Given the description of an element on the screen output the (x, y) to click on. 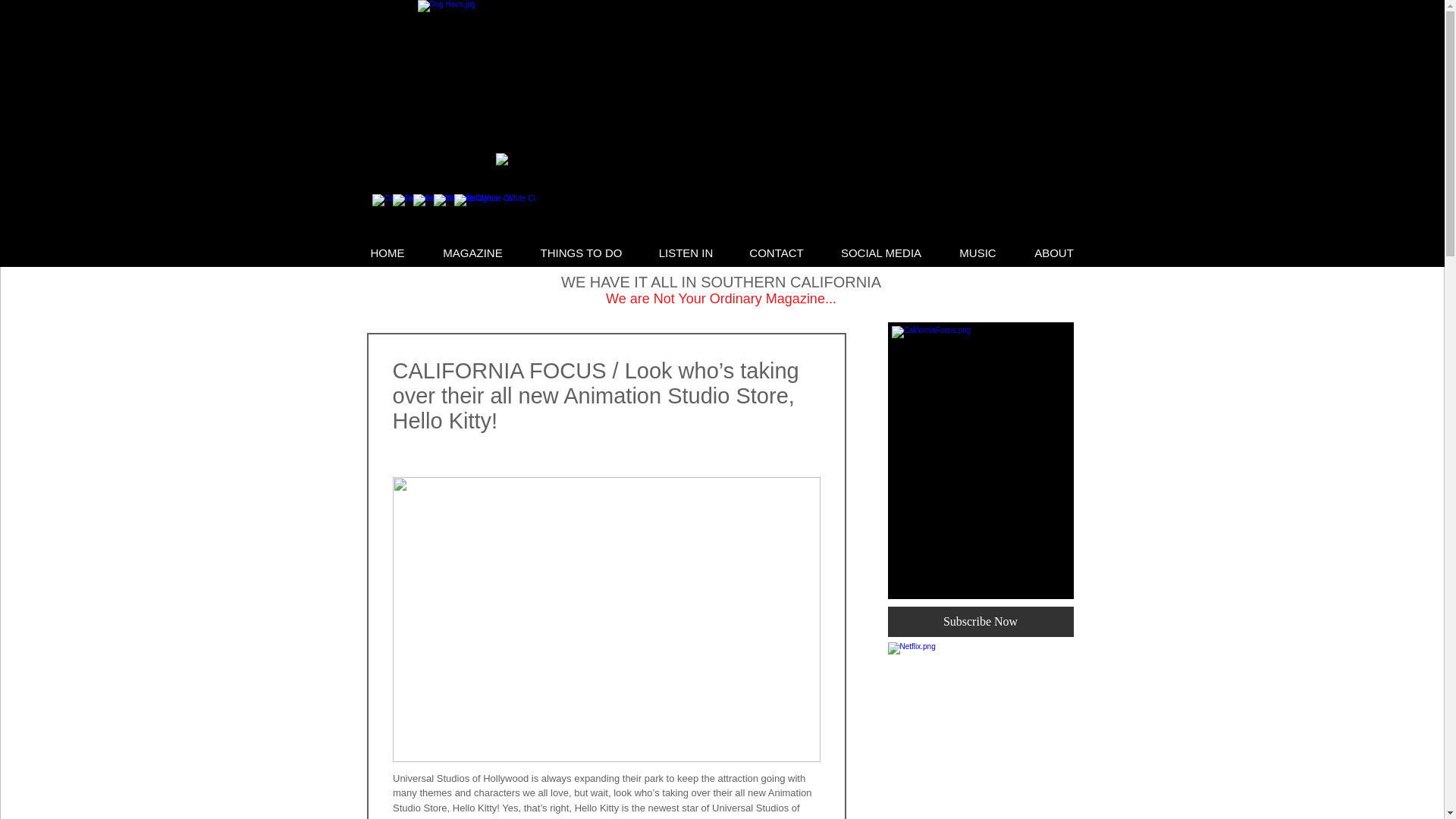
THINGS TO DO (580, 252)
MUSIC (977, 252)
HOME (387, 252)
CONTACT (776, 252)
Subscribe Now (979, 621)
LISTEN IN (685, 252)
MAGAZINE (472, 252)
ABOUT (1053, 252)
SOCIAL MEDIA (881, 252)
